Given the description of an element on the screen output the (x, y) to click on. 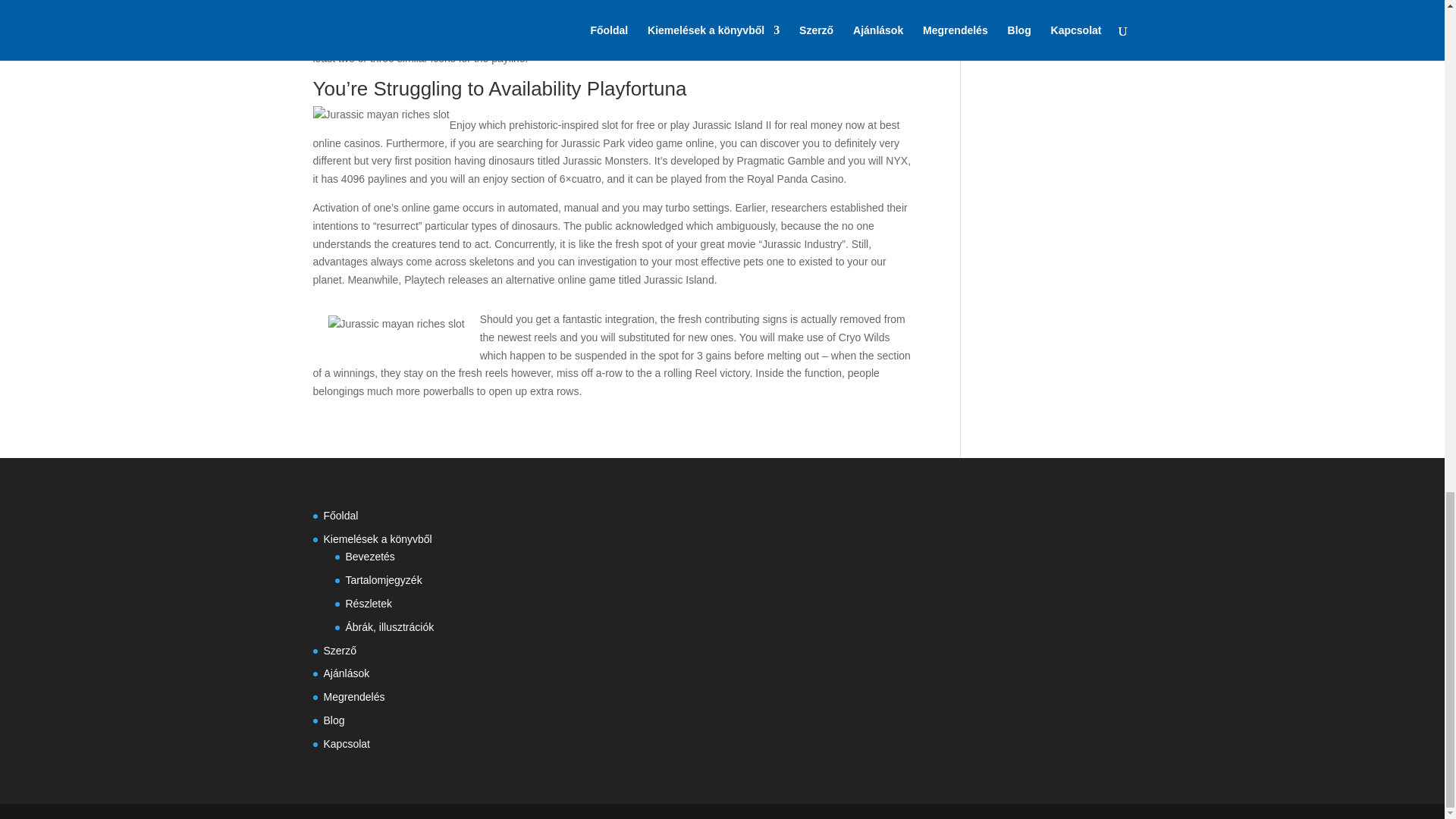
Blog (333, 720)
